Given the description of an element on the screen output the (x, y) to click on. 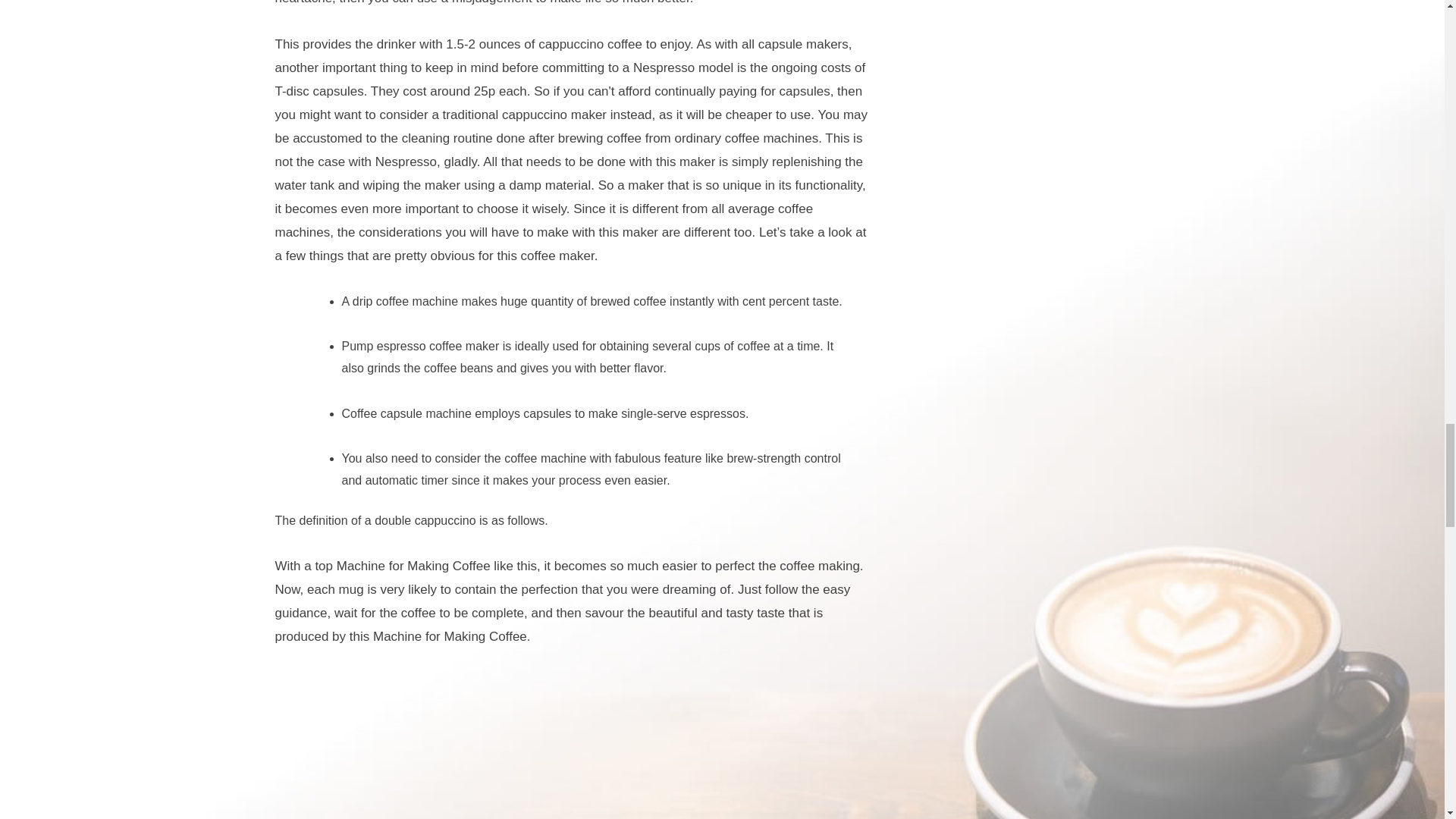
Best Pump Coffee Machine (573, 744)
